Given the description of an element on the screen output the (x, y) to click on. 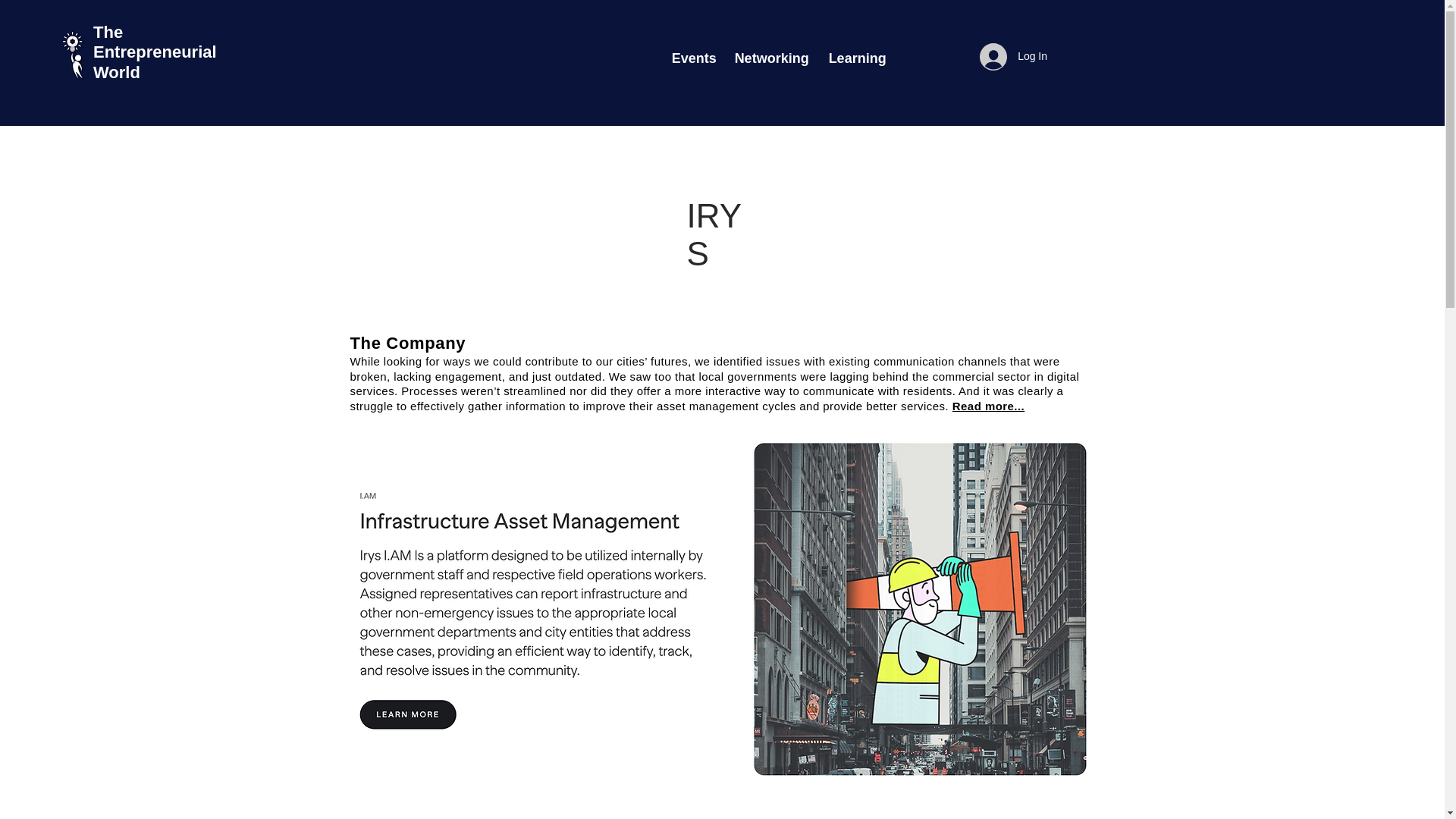
The (107, 31)
Events (692, 57)
Networking (769, 57)
Read more... (988, 405)
Learning (854, 57)
Log In (1013, 56)
